Given the description of an element on the screen output the (x, y) to click on. 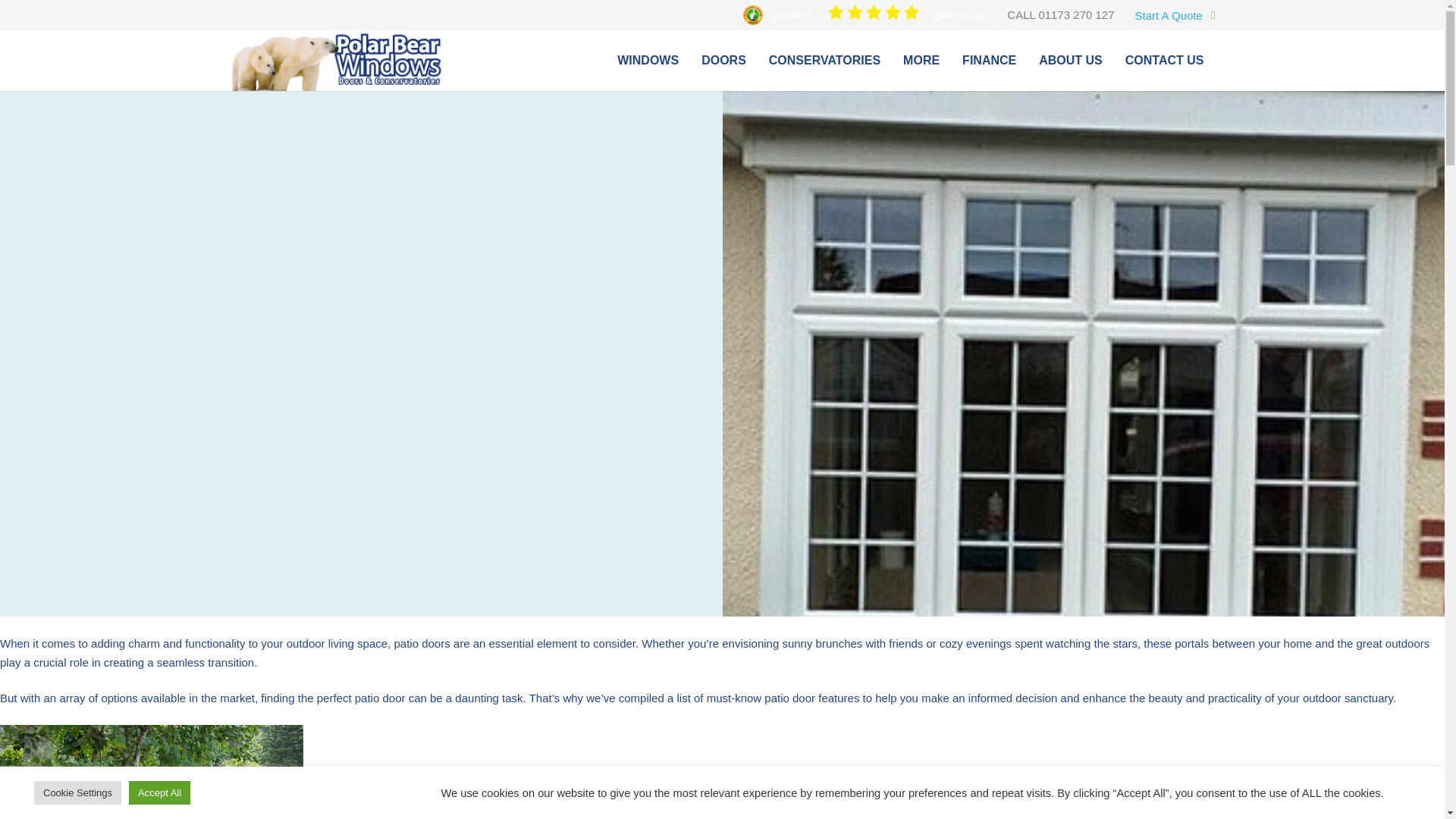
eKomi gold seal Award (752, 14)
